Given the description of an element on the screen output the (x, y) to click on. 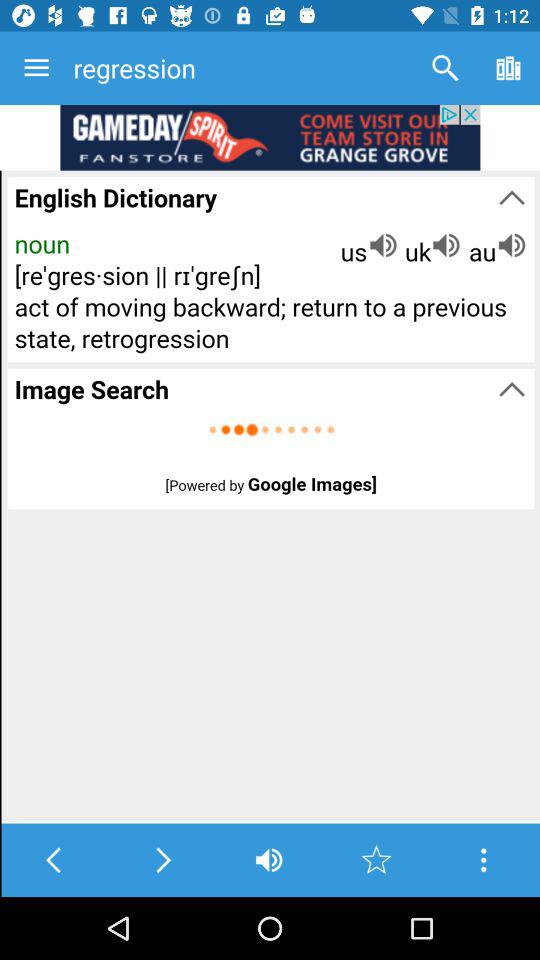
bookmark this selection (376, 859)
